Given the description of an element on the screen output the (x, y) to click on. 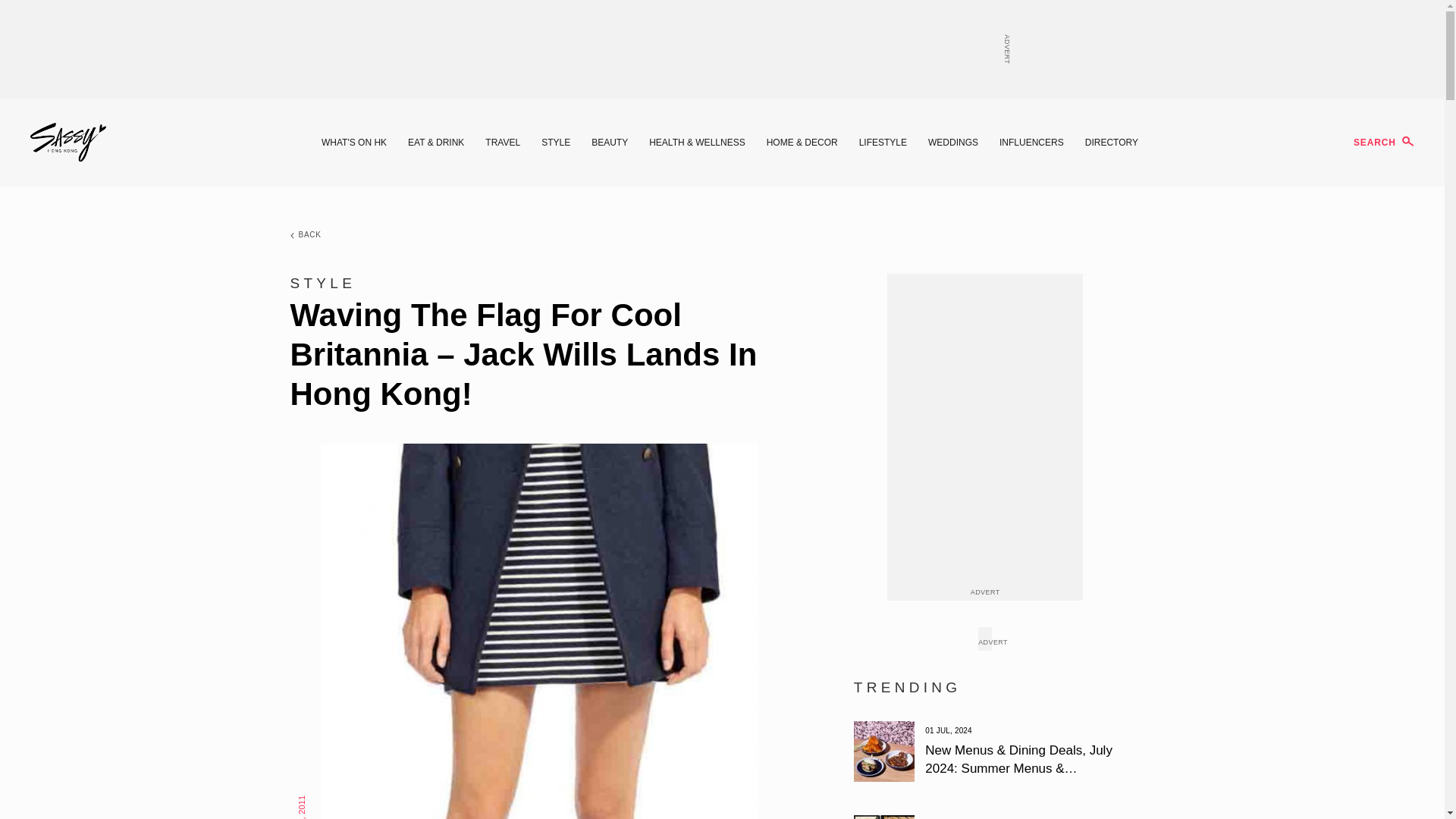
WHAT'S ON HK (354, 142)
Sassy Hong Kong (68, 142)
TRAVEL (501, 142)
3rd party ad content (721, 49)
